Given the description of an element on the screen output the (x, y) to click on. 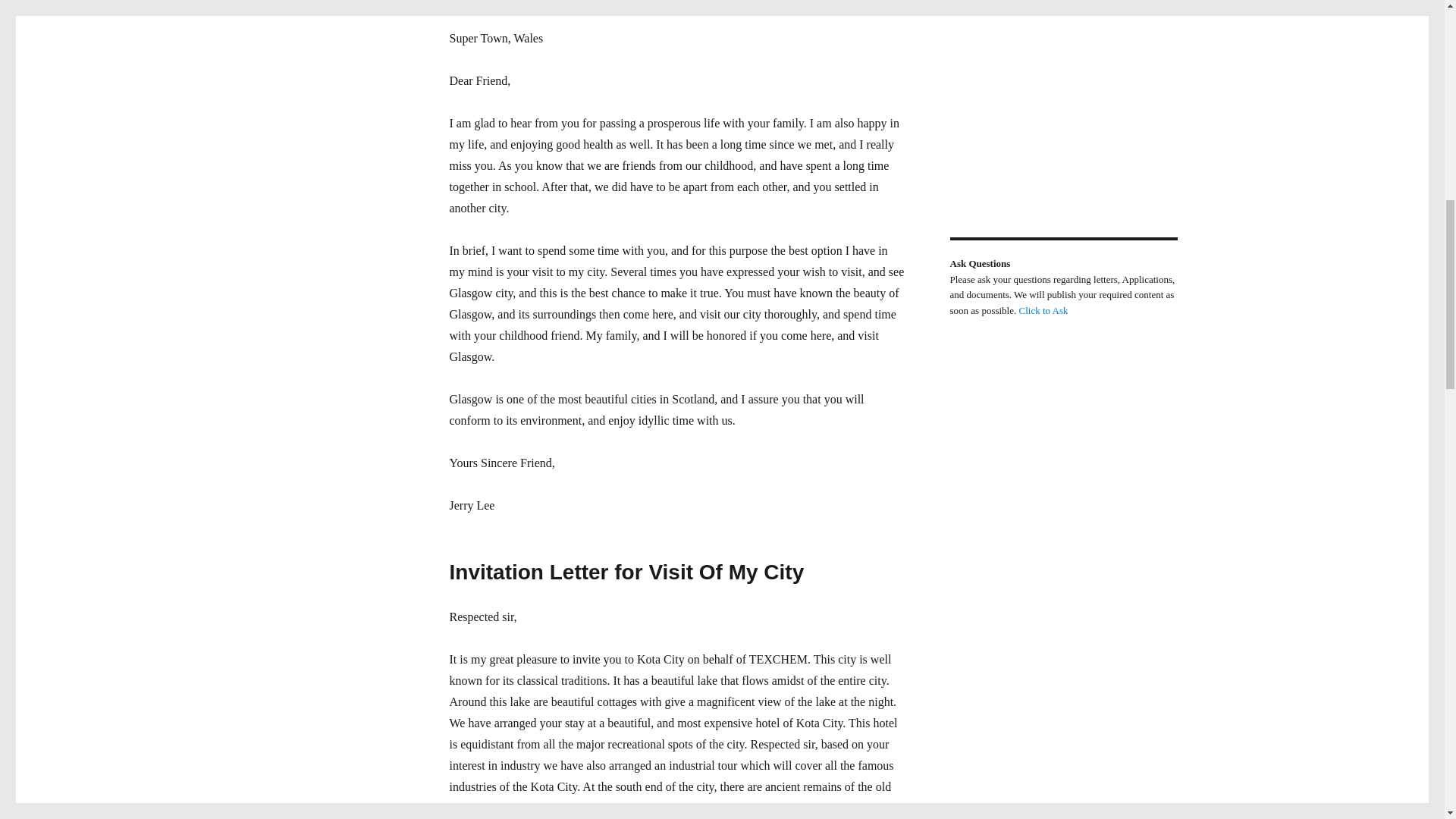
Click to Ask (1043, 310)
